Given the description of an element on the screen output the (x, y) to click on. 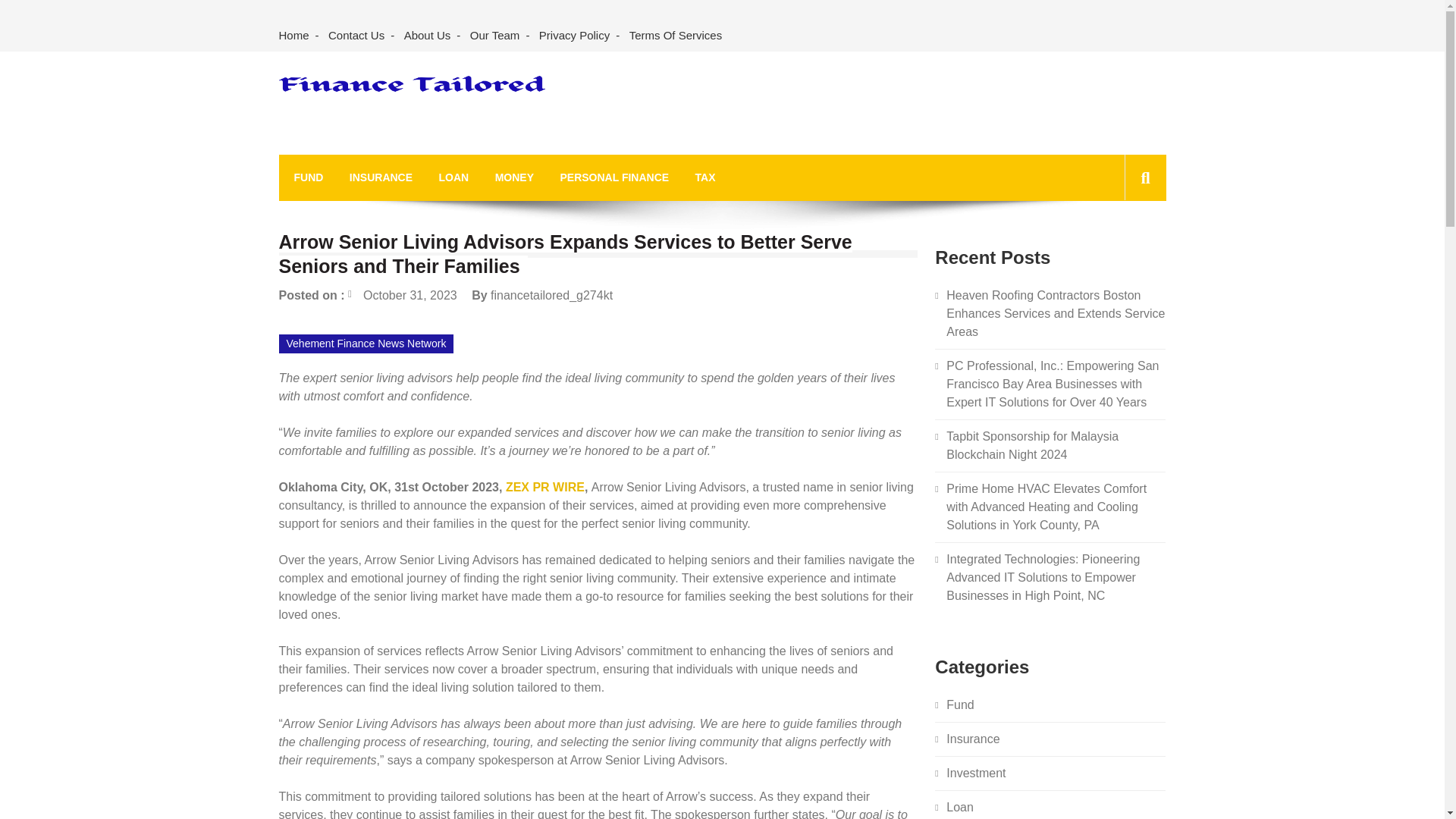
Terms Of Services (676, 36)
Our Team (494, 36)
Contact Us (355, 36)
INSURANCE (380, 177)
Vehement Finance News Network (366, 342)
October 31, 2023 (402, 294)
Fund (960, 704)
ZEX PR WIRE (545, 486)
Loan (960, 807)
Privacy Policy (573, 36)
Search (1120, 245)
